Given the description of an element on the screen output the (x, y) to click on. 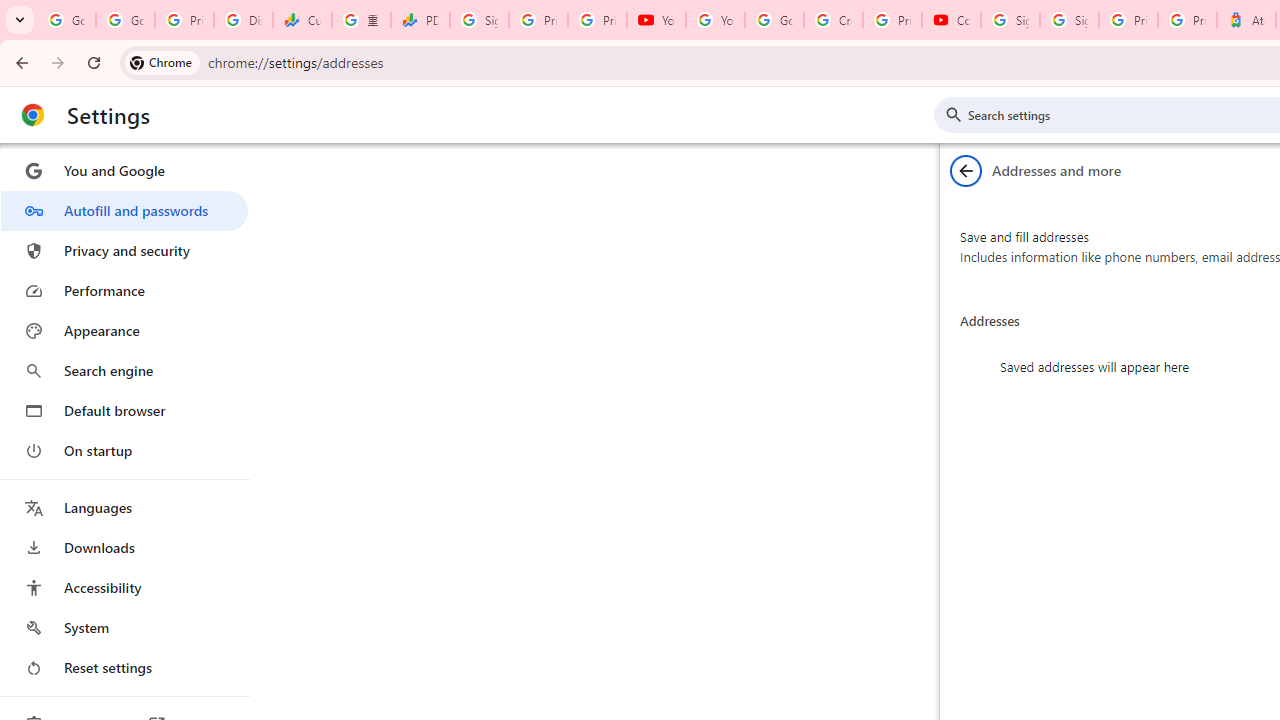
Default browser (124, 410)
Currencies - Google Finance (301, 20)
Sign in - Google Accounts (1069, 20)
Accessibility (124, 587)
Create your Google Account (832, 20)
Performance (124, 290)
Reset settings (124, 668)
